Given the description of an element on the screen output the (x, y) to click on. 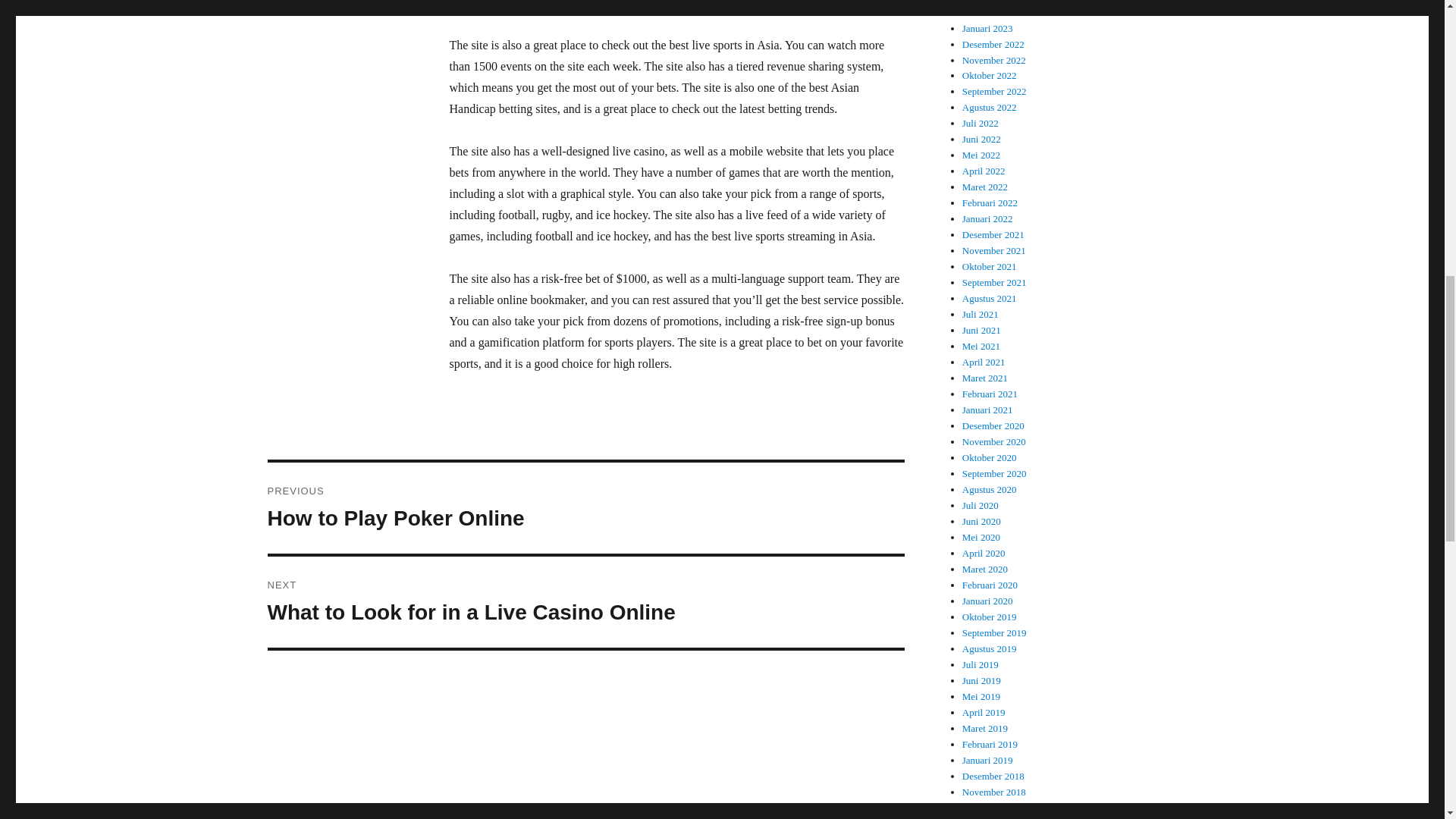
Desember 2022 (993, 43)
Oktober 2022 (585, 601)
Maret 2023 (585, 507)
Februari 2023 (989, 75)
November 2022 (984, 1)
September 2022 (989, 12)
Januari 2023 (994, 60)
